Given the description of an element on the screen output the (x, y) to click on. 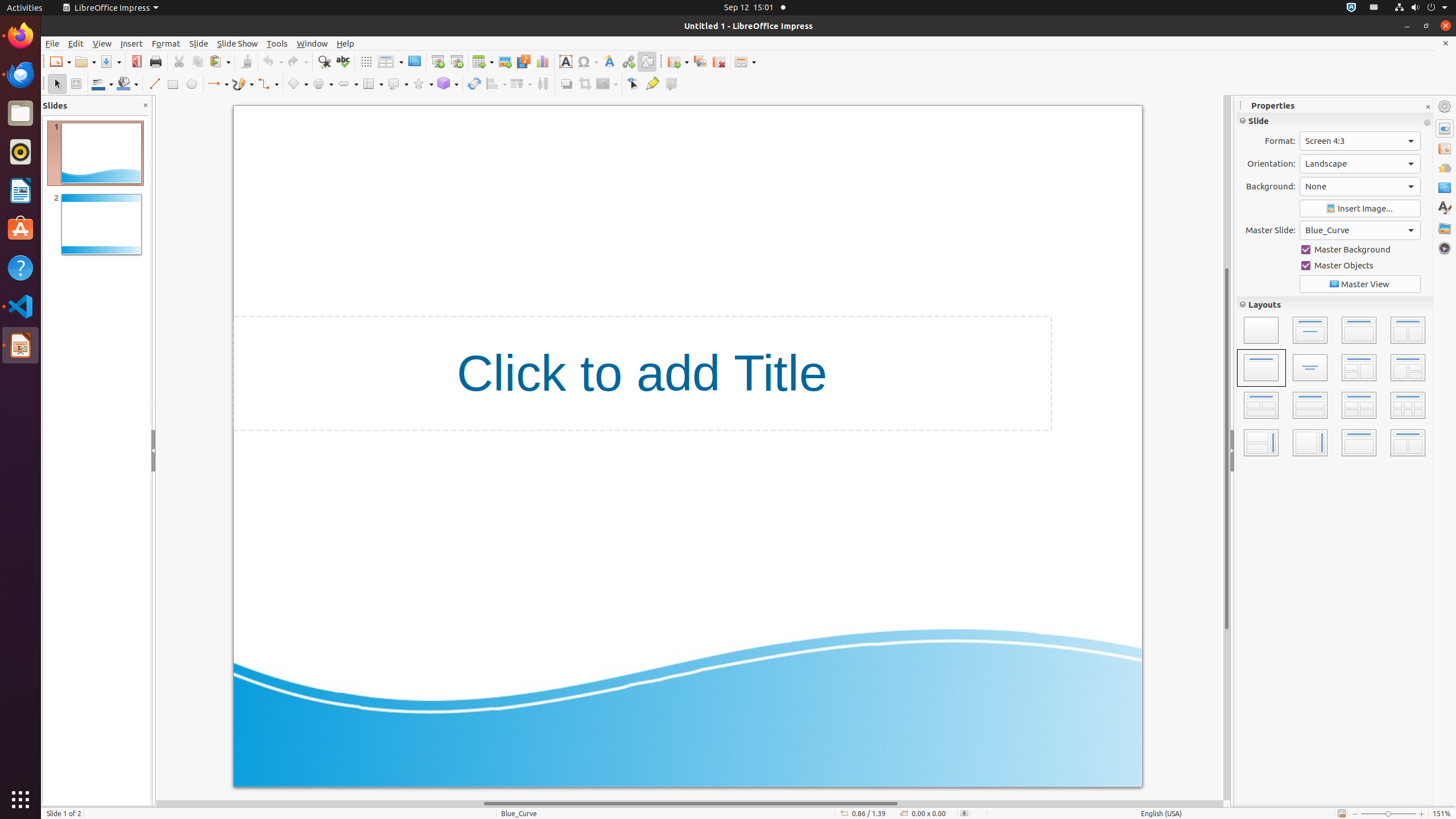
Glue Points Element type: push-button (651, 83)
Superscript Element type: toggle-button (1407, 192)
Line Color Element type: push-button (101, 83)
More Options Element type: push-button (1426, 216)
